Given the description of an element on the screen output the (x, y) to click on. 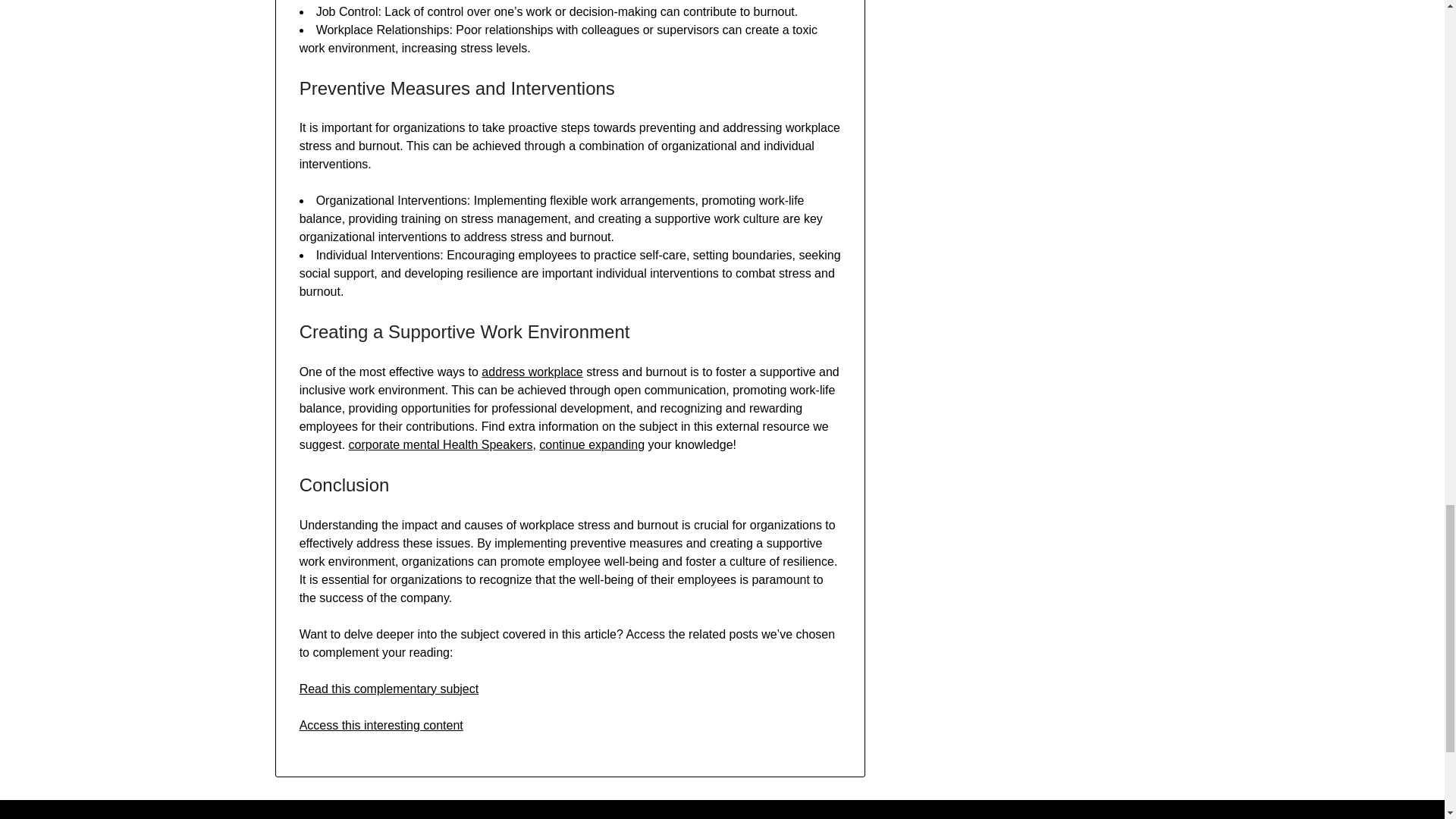
corporate mental Health Speakers (440, 444)
Access this interesting content (381, 725)
continue expanding (591, 444)
Read this complementary subject (389, 688)
address workplace (531, 371)
